Given the description of an element on the screen output the (x, y) to click on. 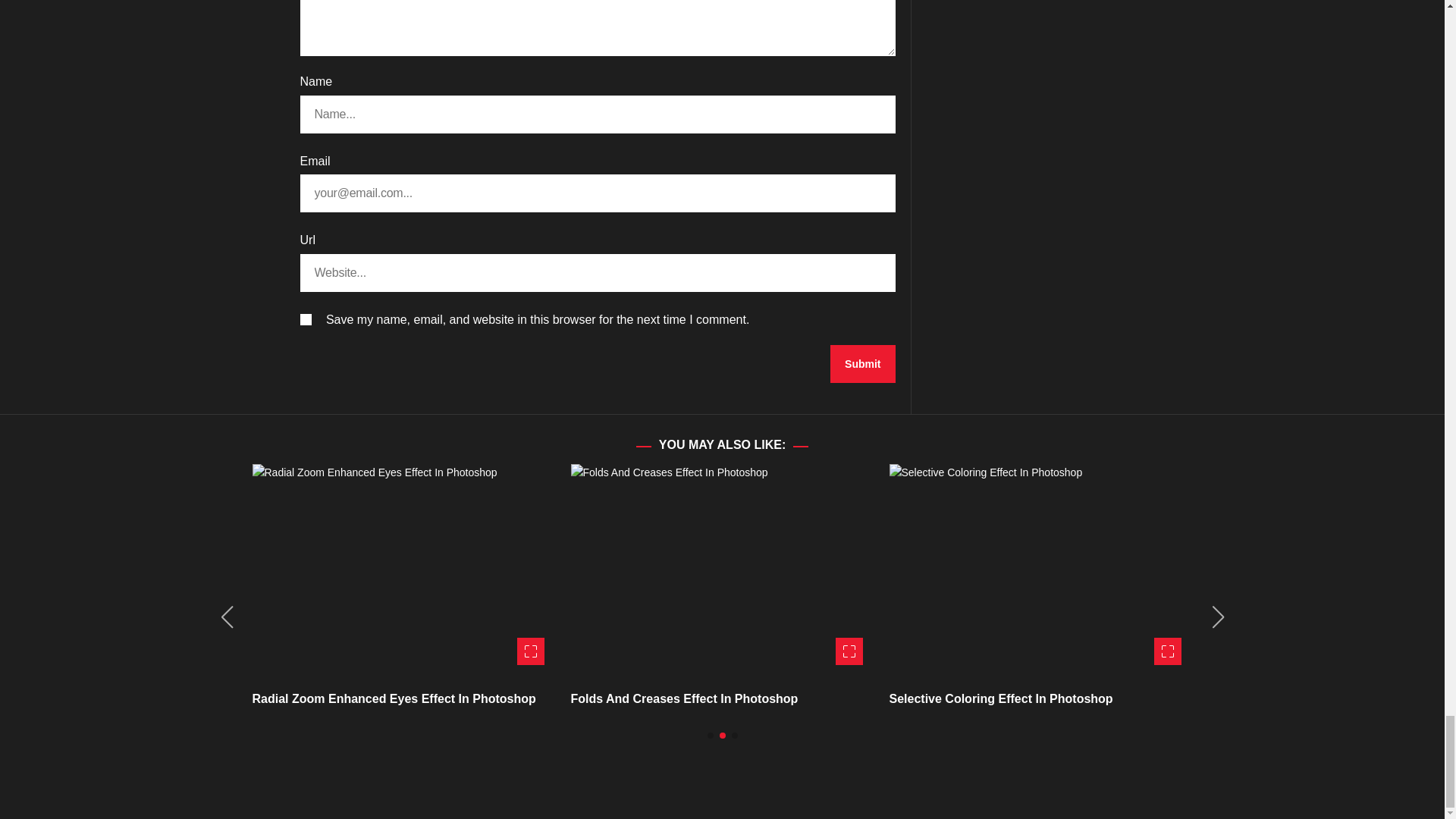
Submit (862, 363)
yes (305, 319)
Submit (862, 363)
Radial Zoom Enhanced Eyes Effect In Photoshop (393, 698)
